Given the description of an element on the screen output the (x, y) to click on. 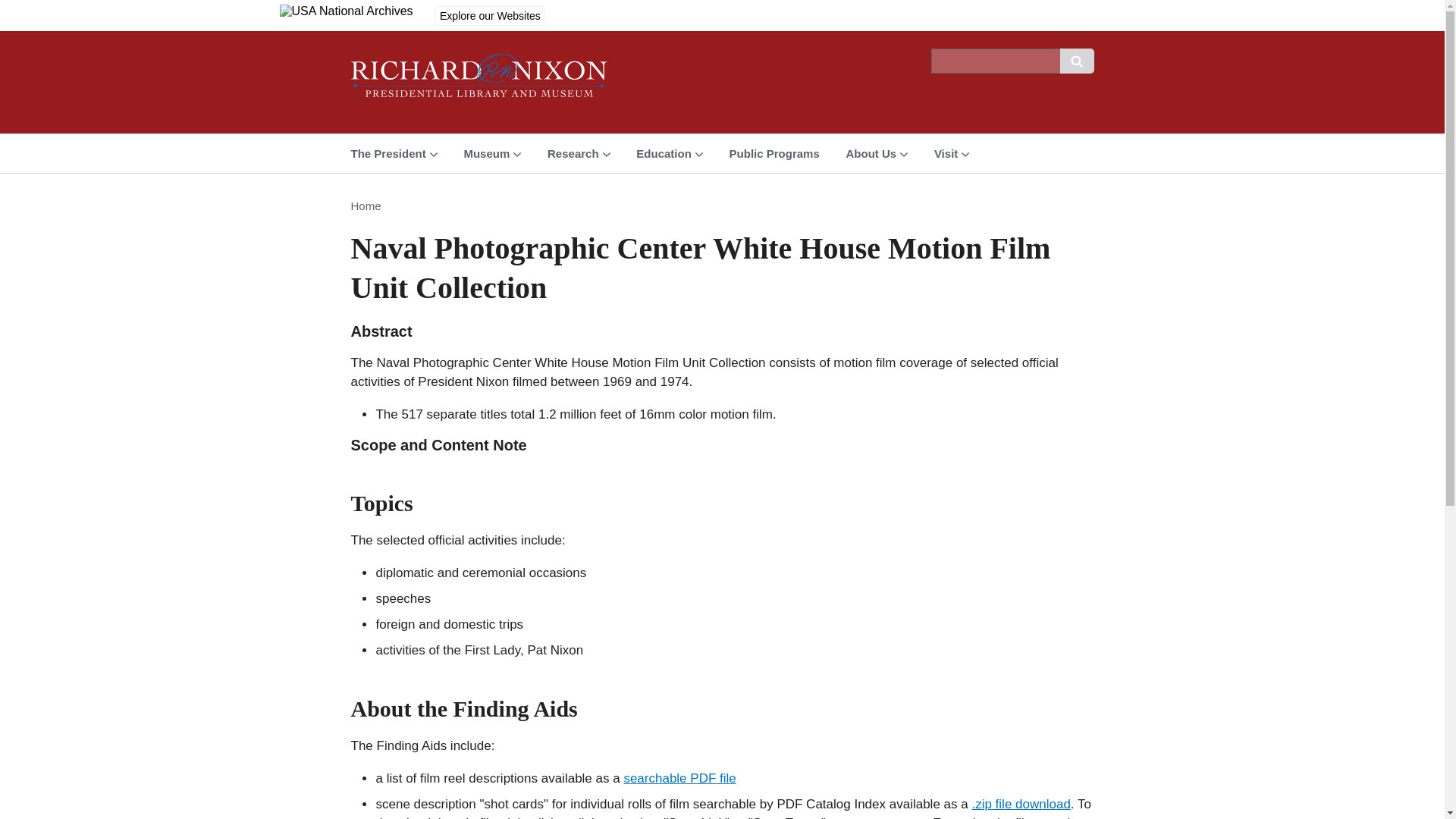
Enter the terms you wish to search for. (995, 60)
The President (393, 153)
Home (478, 82)
Explore our Websites (489, 15)
